Given the description of an element on the screen output the (x, y) to click on. 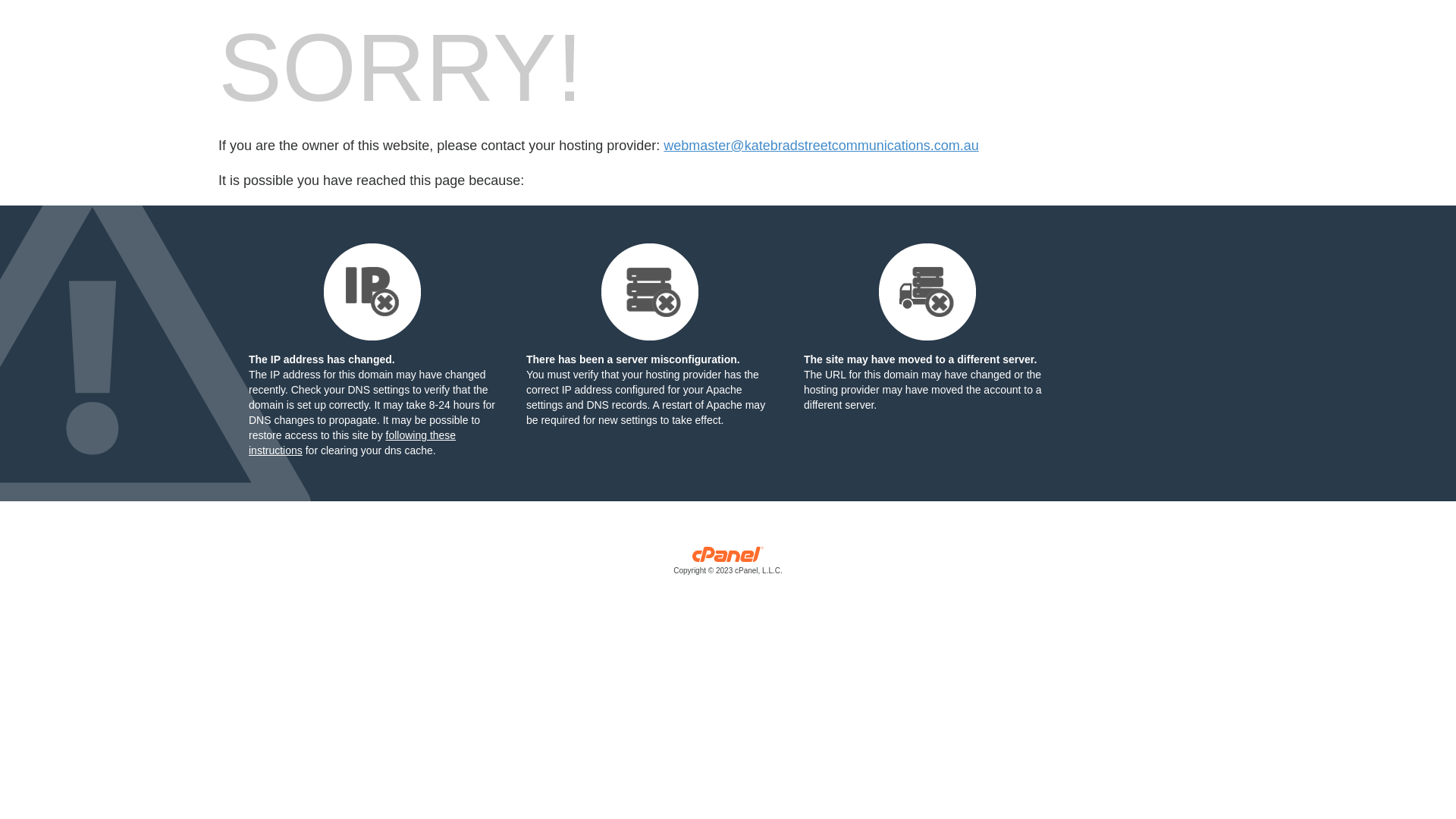
webmaster@katebradstreetcommunications.com.au Element type: text (820, 145)
following these instructions Element type: text (351, 442)
